Given the description of an element on the screen output the (x, y) to click on. 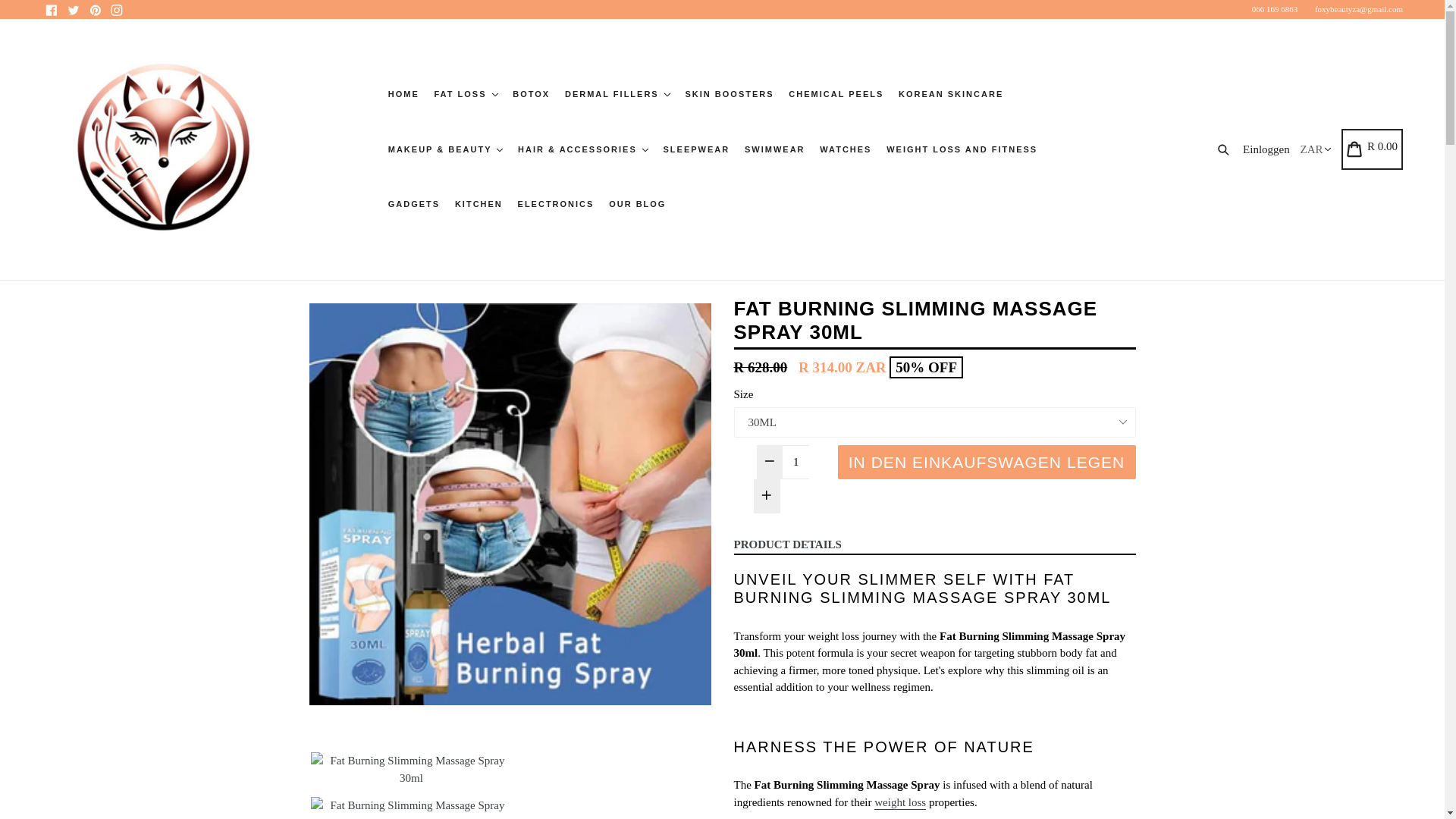
Foxy Beauty auf Instagram (116, 9)
Foxy Beauty auf Facebook (51, 9)
1 (796, 461)
Foxy Beauty auf Pinterest (94, 9)
Foxy Beauty auf Twitter (73, 9)
weight loss (900, 802)
